Given the description of an element on the screen output the (x, y) to click on. 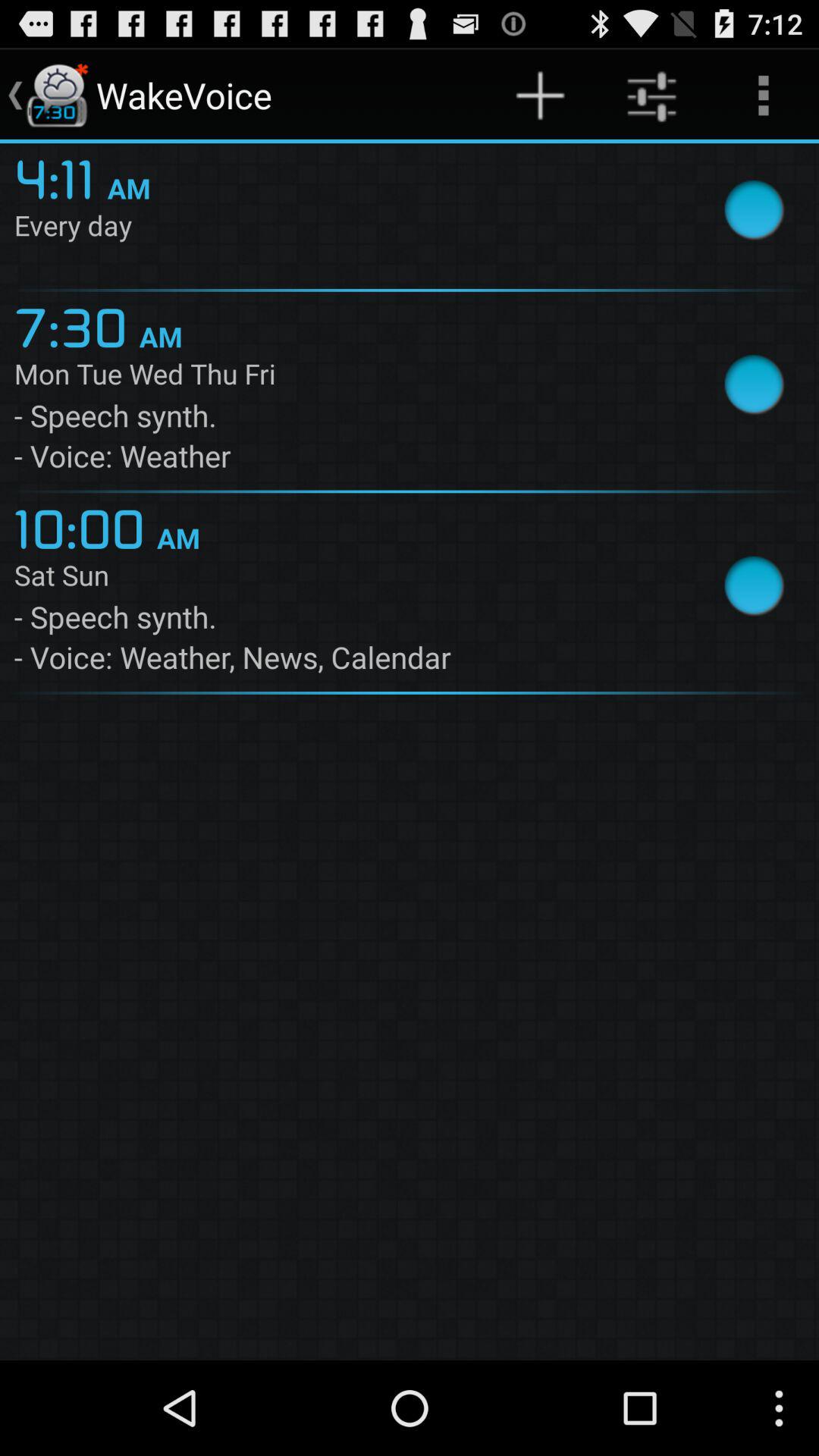
tap app above sat sun app (85, 526)
